Given the description of an element on the screen output the (x, y) to click on. 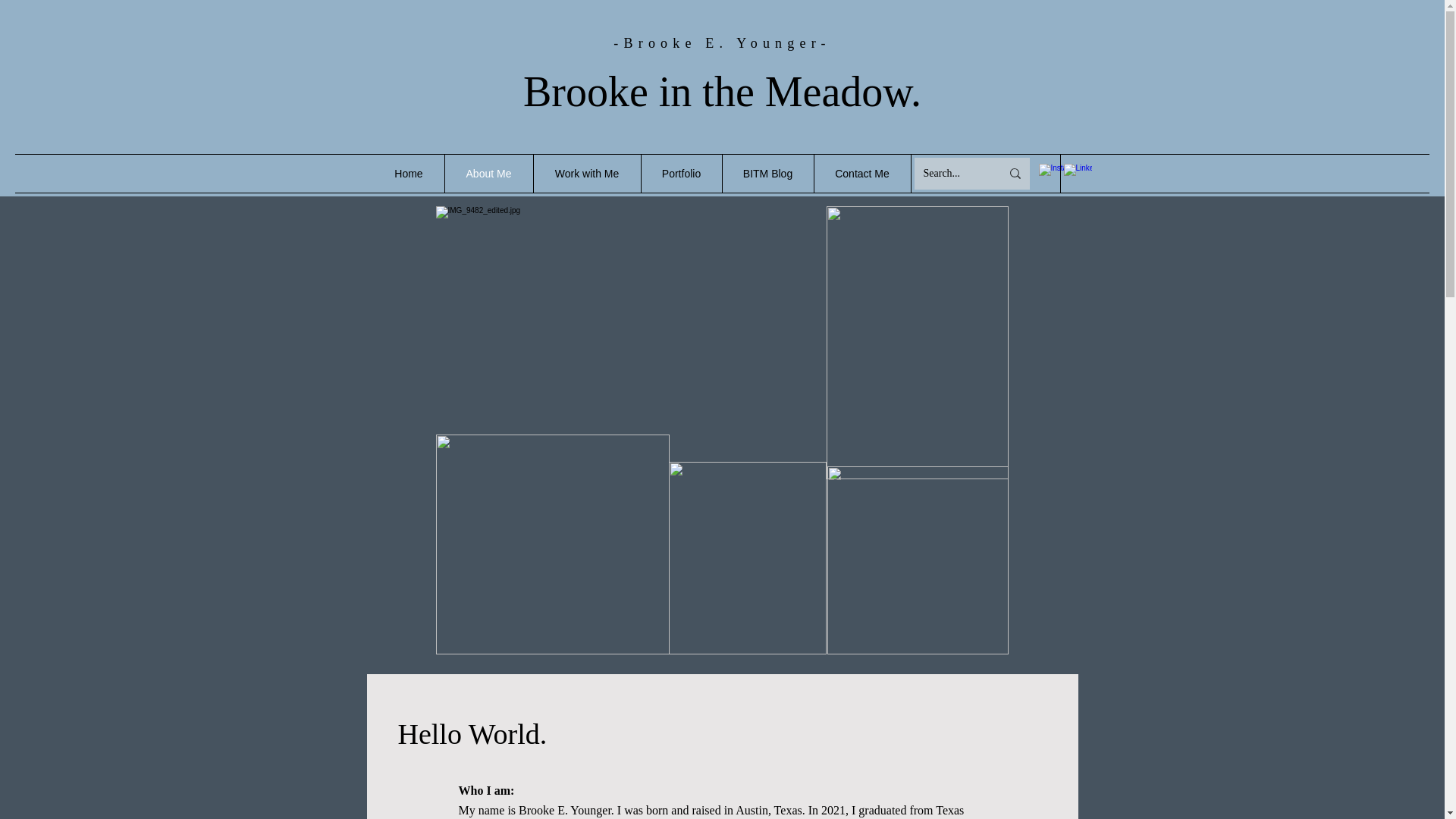
BITM Blog (767, 173)
Brooke in the Meadow. (721, 91)
Home (408, 173)
Portfolio (680, 173)
Contact Me (861, 173)
Work with Me (586, 173)
About Me (488, 173)
